Given the description of an element on the screen output the (x, y) to click on. 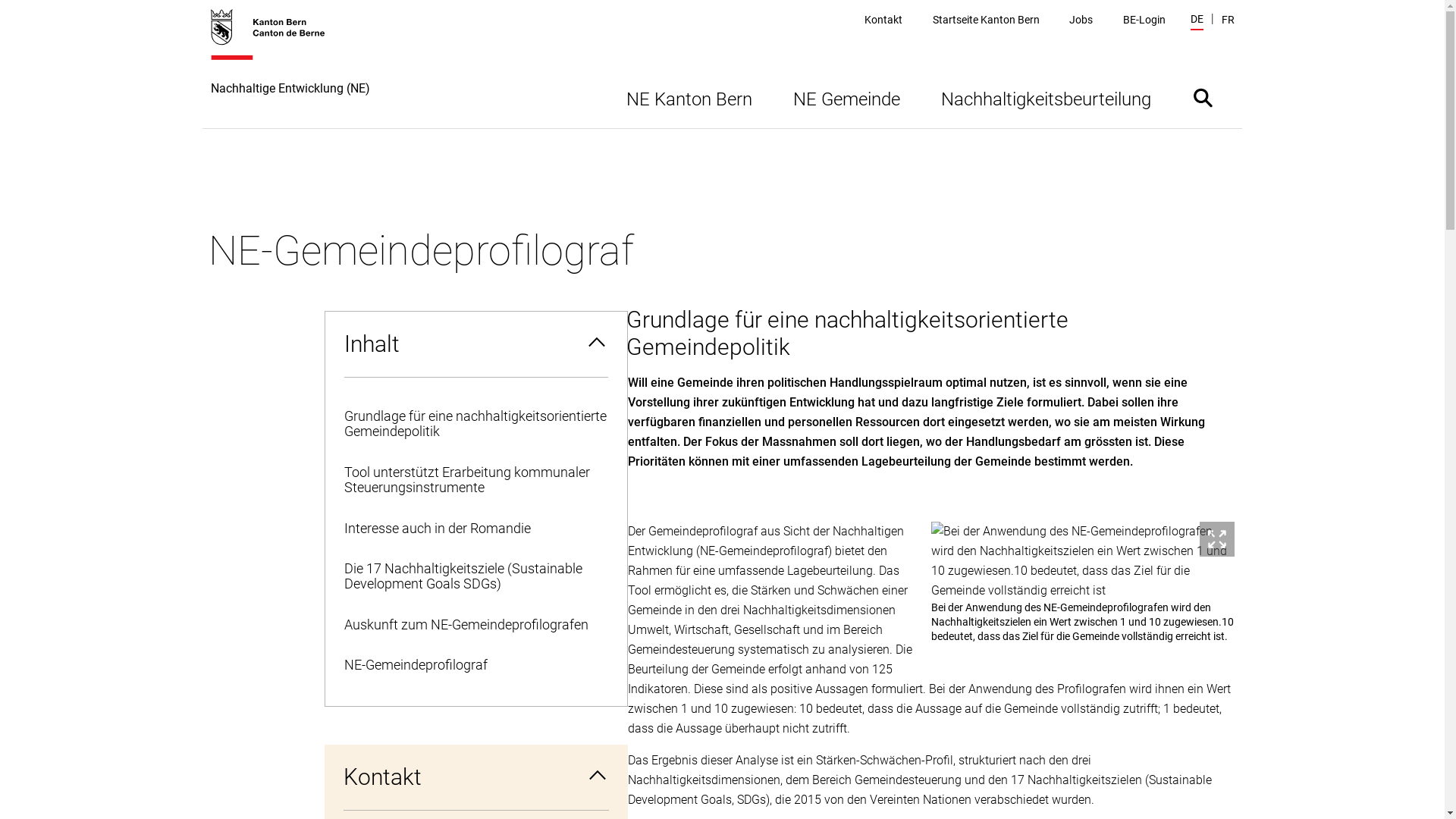
DE Element type: text (1196, 21)
NE Kanton Bern Element type: text (688, 96)
Interesse auch in der Romandie Element type: text (475, 528)
FR Element type: text (1226, 19)
Bild herunterladen Element type: text (1216, 538)
Suche ein- oder ausblenden Element type: text (1201, 96)
Kontakt Element type: text (883, 19)
Jobs Element type: text (1080, 19)
NE Gemeinde Element type: text (845, 96)
Nachhaltigkeitsbeurteilung Element type: text (1045, 96)
Nachhaltige Entwicklung (NE) Element type: text (290, 68)
BE-Login Element type: text (1144, 19)
Kontakt Element type: text (475, 776)
Inhalt Element type: text (475, 343)
Startseite Kanton Bern Element type: text (985, 19)
NE-Gemeindeprofilograf Element type: text (475, 665)
Auskunft zum NE-Gemeindeprofilografen Element type: text (475, 625)
